Given the description of an element on the screen output the (x, y) to click on. 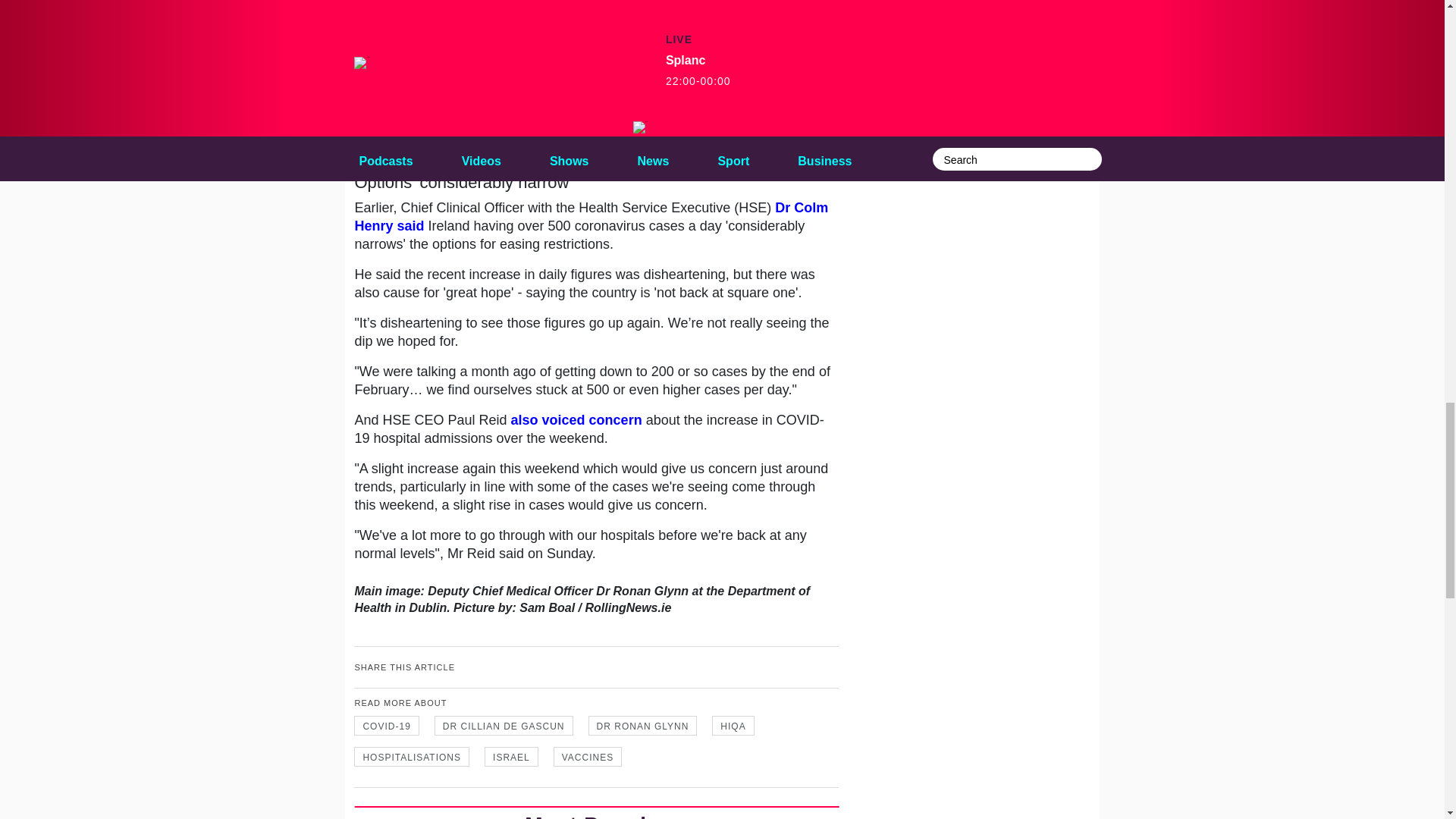
HIQA (732, 725)
DR RONAN GLYNN (642, 725)
ISRAEL (511, 756)
DR CILLIAN DE GASCUN (503, 725)
VACCINES (587, 756)
HOSPITALISATIONS (410, 756)
also voiced concern (576, 419)
COVID-19 (386, 725)
Dr Colm Henry said (590, 216)
